Given the description of an element on the screen output the (x, y) to click on. 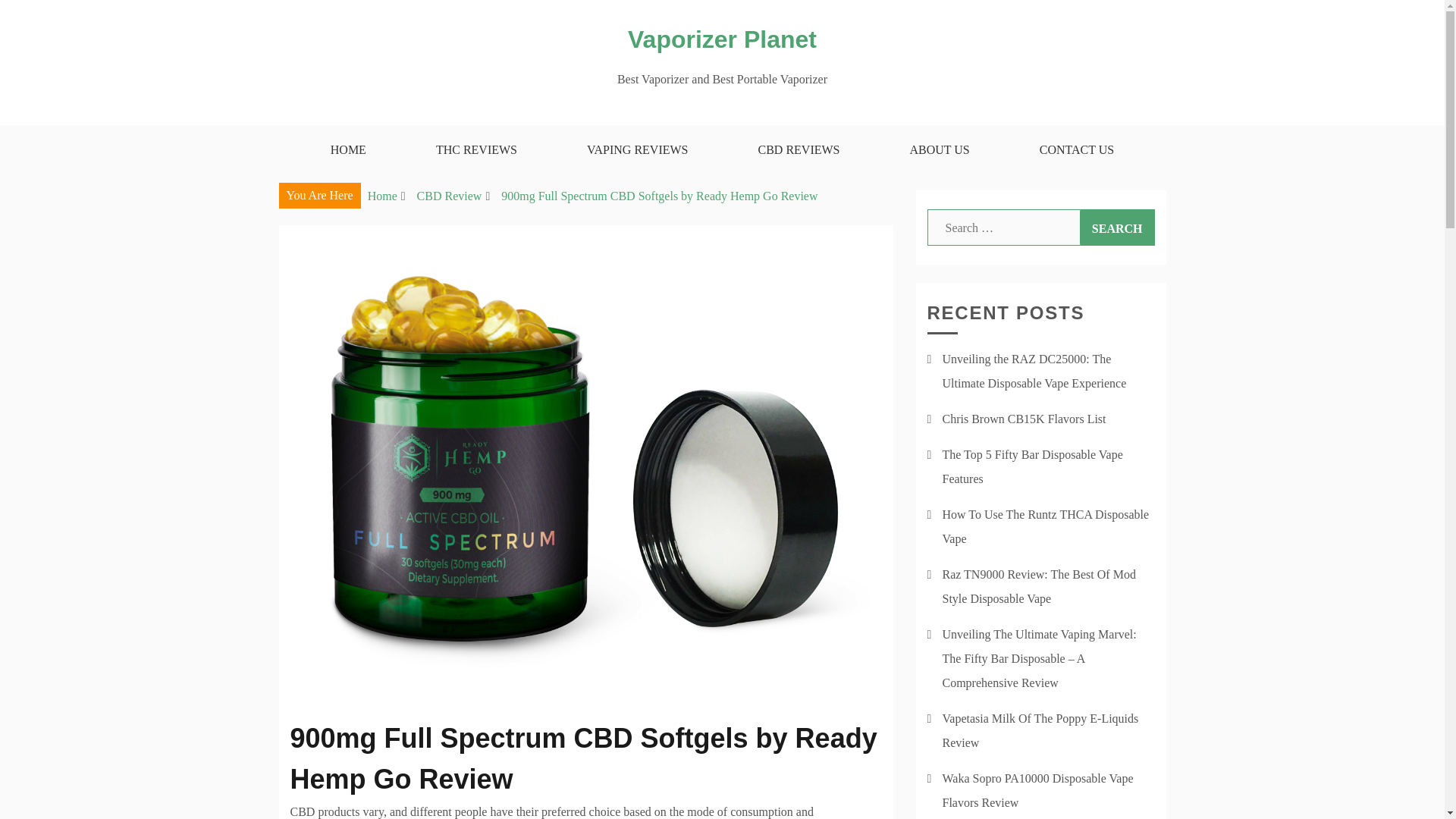
Vaporizer Planet (721, 39)
Search (1117, 227)
How To Use The Runtz THCA Disposable Vape (1045, 526)
CBD REVIEWS (798, 150)
CONTACT US (1076, 150)
THC REVIEWS (476, 150)
Raz TN9000 Review: The Best Of Mod Style Disposable Vape (1038, 586)
The Top 5 Fifty Bar Disposable Vape Features (1032, 466)
Vapetasia Milk Of The Poppy E-Liquids Review (1040, 730)
HOME (347, 150)
Home (382, 195)
Search (1117, 227)
Chris Brown CB15K Flavors List (1023, 418)
Waka Sopro PA10000 Disposable Vape Flavors Review (1037, 790)
